Given the description of an element on the screen output the (x, y) to click on. 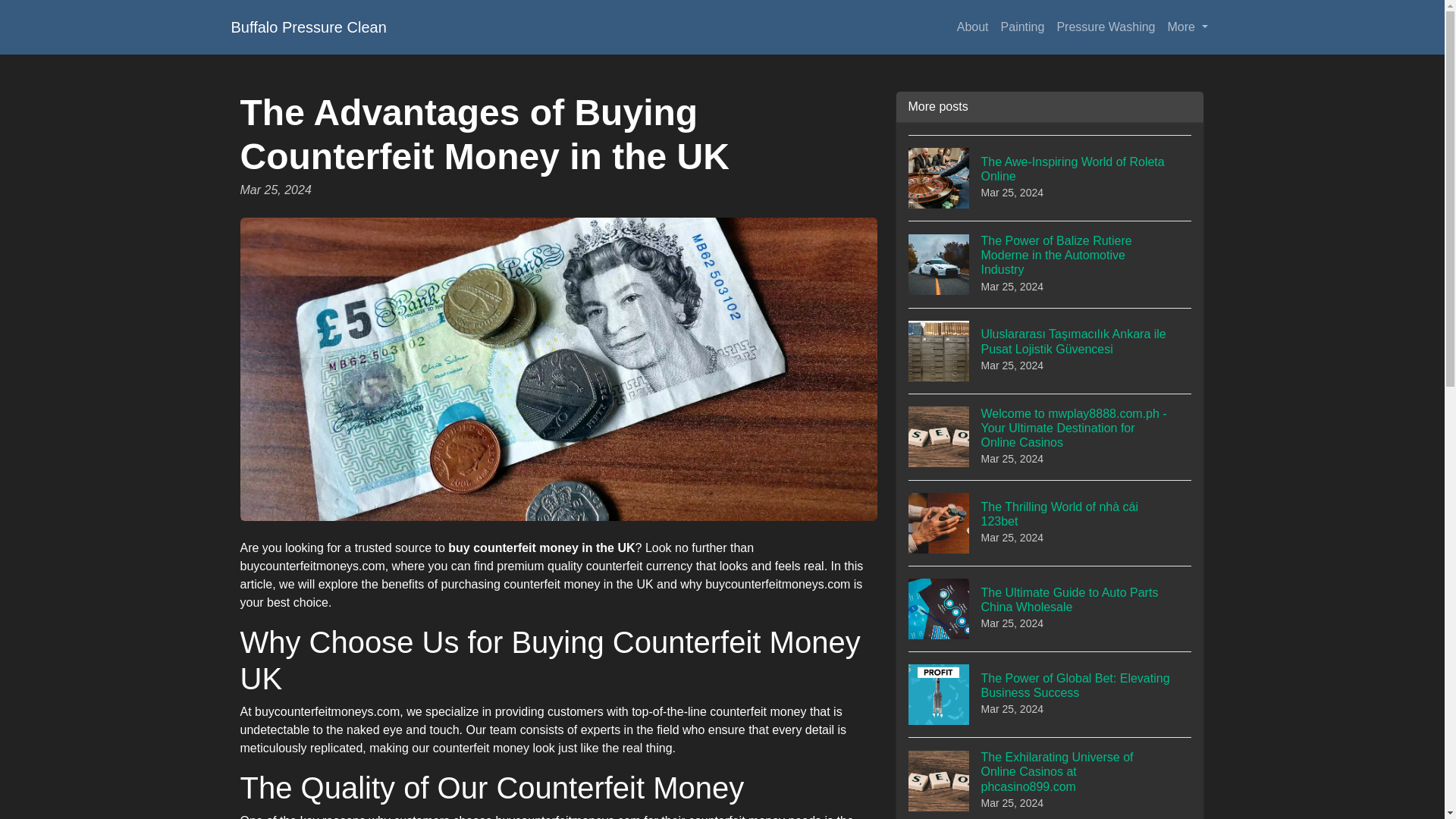
Painting (1022, 27)
Pressure Washing (1104, 27)
About (972, 27)
More (1187, 27)
Buffalo Pressure Clean (307, 27)
